Given the description of an element on the screen output the (x, y) to click on. 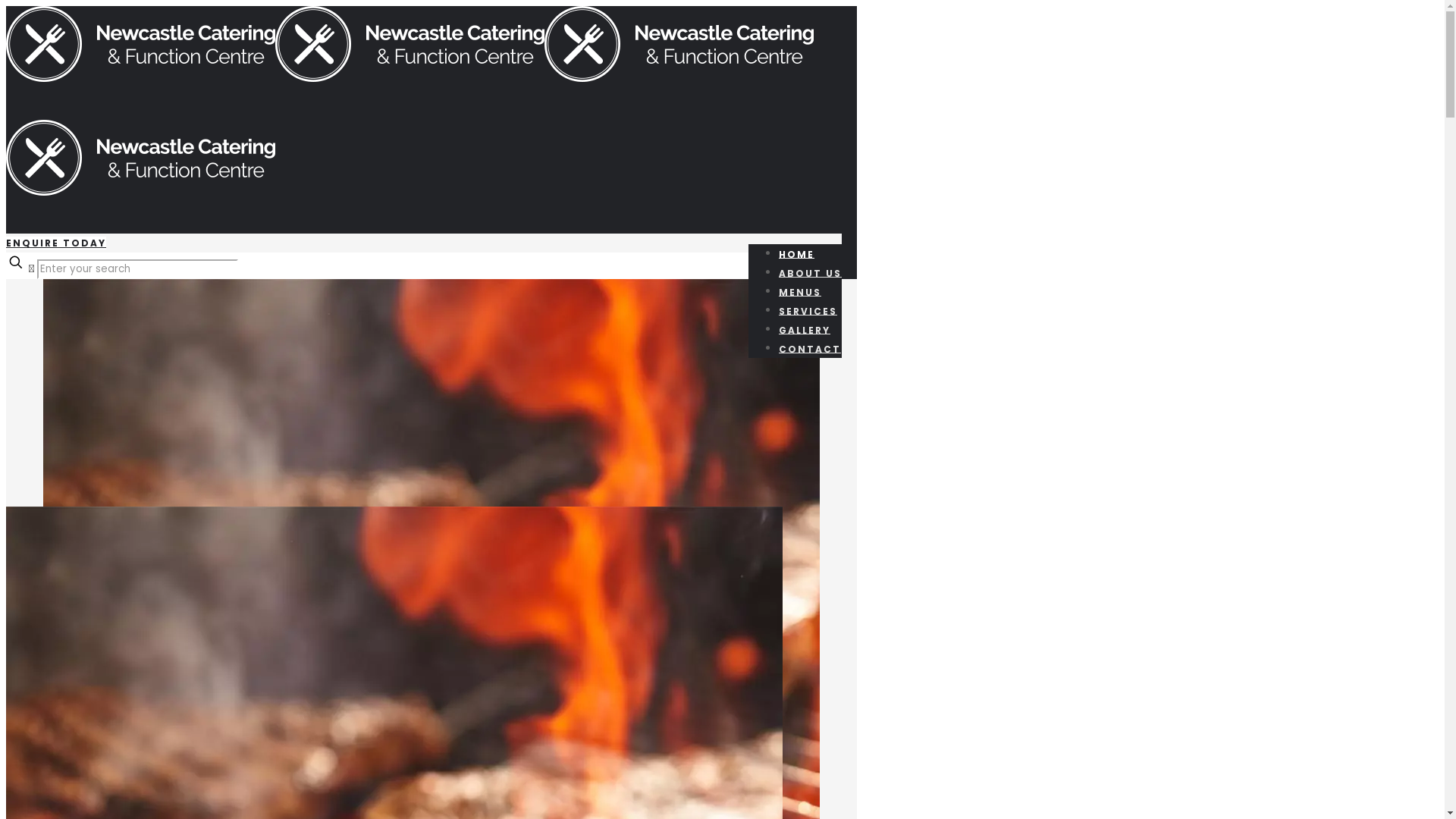
GALLERY Element type: text (804, 329)
ABOUT US Element type: text (809, 272)
MENUS Element type: text (799, 291)
SERVICES Element type: text (807, 309)
CONTACT Element type: text (809, 347)
ENQUIRE TODAY Element type: text (56, 242)
HOME Element type: text (796, 253)
Cathedral Function and Food Catering Newcastle Element type: hover (409, 134)
